Given the description of an element on the screen output the (x, y) to click on. 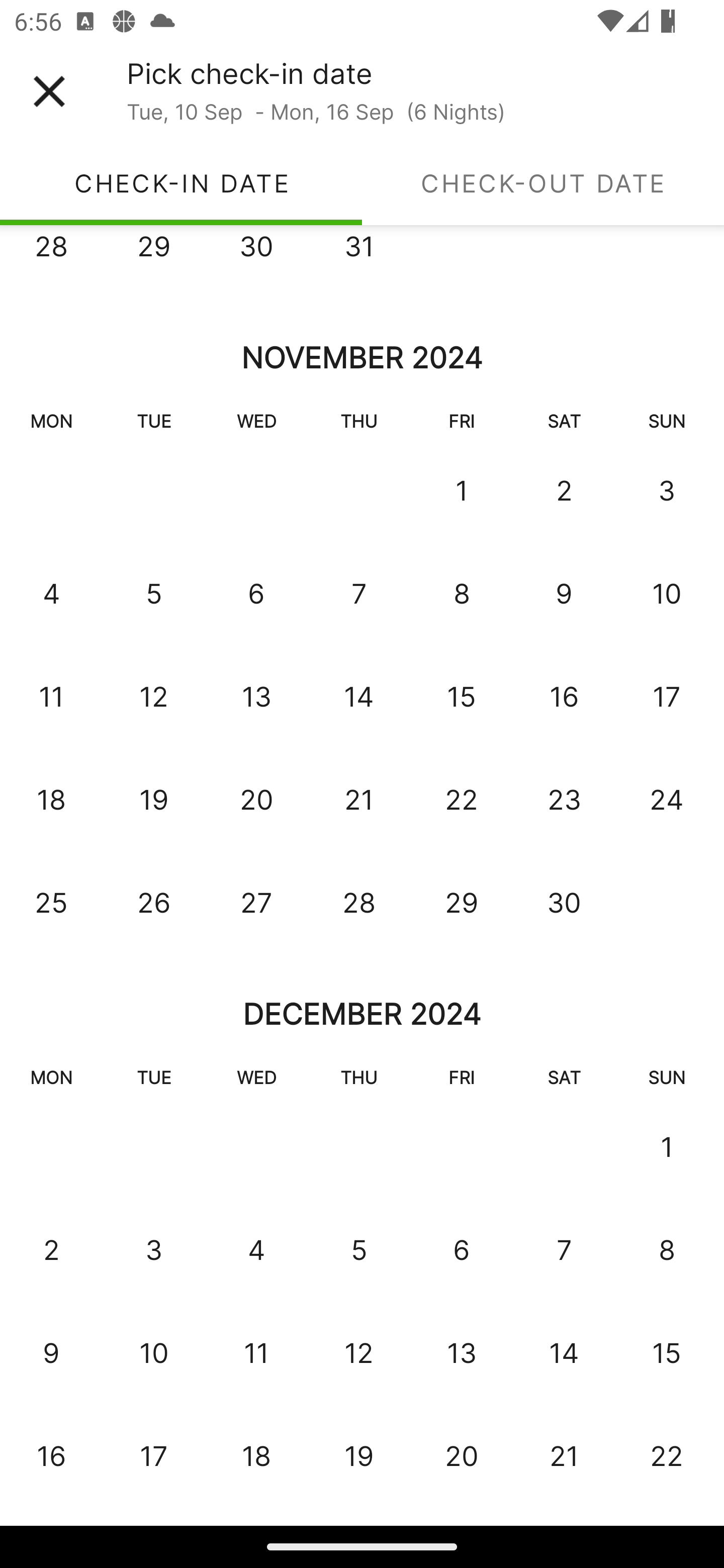
Check-out Date CHECK-OUT DATE (543, 183)
